Given the description of an element on the screen output the (x, y) to click on. 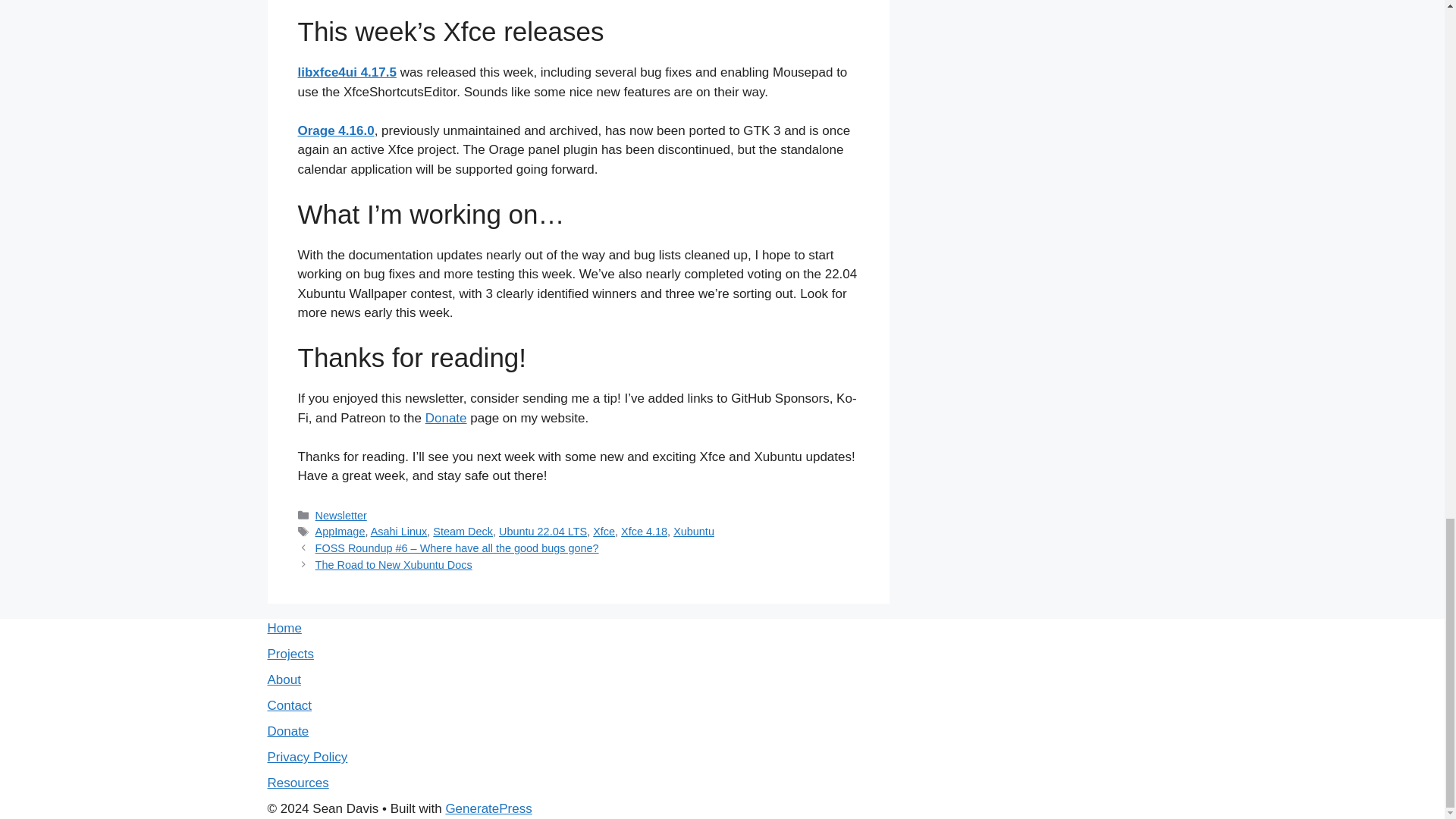
AppImage (340, 531)
Newsletter (340, 515)
The Road to New Xubuntu Docs (393, 564)
Xfce 4.18 (643, 531)
Ubuntu 22.04 LTS (542, 531)
libxfce4ui 4.17.5 (346, 72)
Steam Deck (462, 531)
Xfce (603, 531)
Orage 4.16.0 (335, 130)
Asahi Linux (399, 531)
Donate (446, 418)
Xubuntu (693, 531)
